Given the description of an element on the screen output the (x, y) to click on. 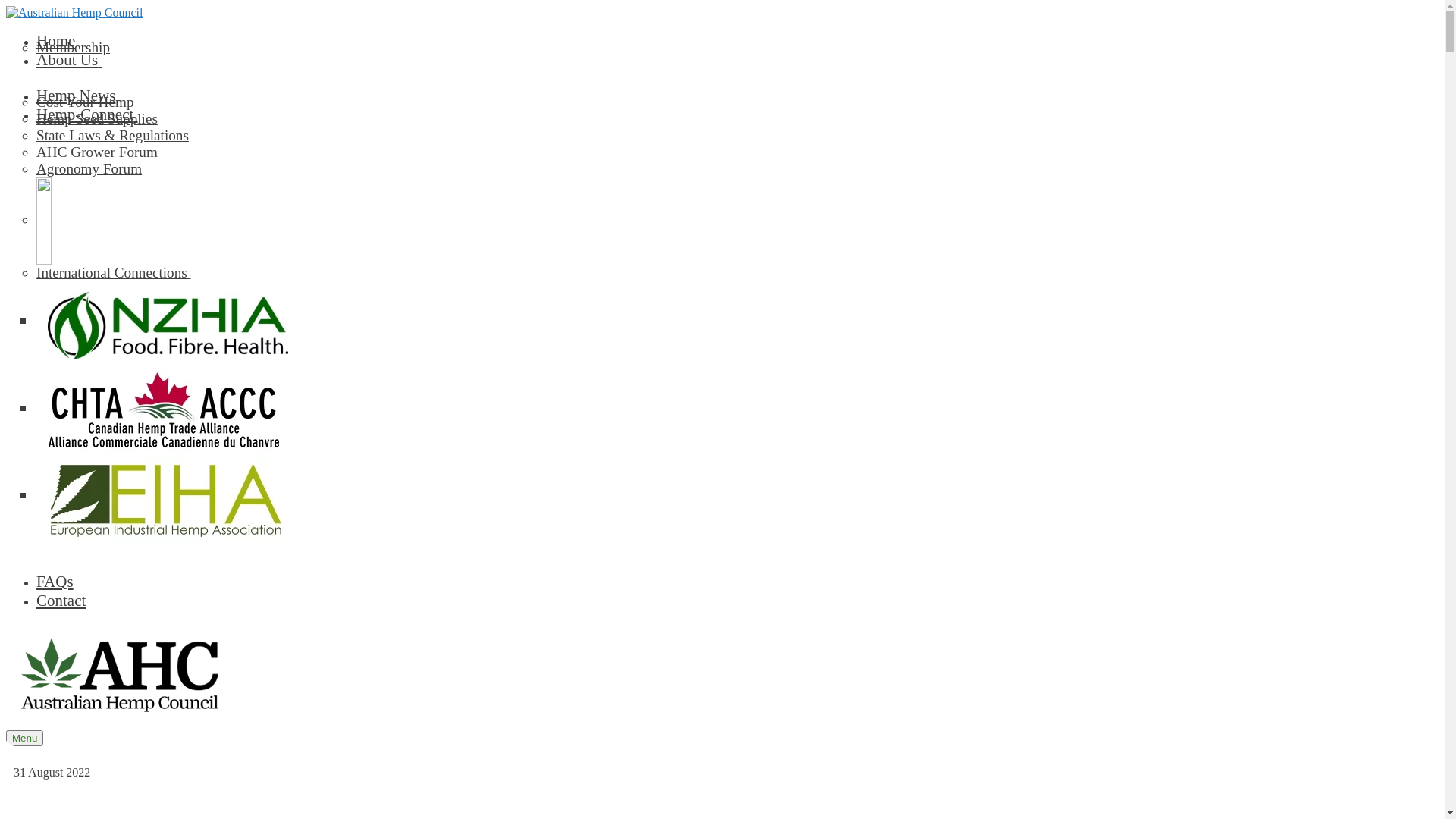
State Laws & Regulations Element type: text (737, 135)
AHC Grower Forum Element type: text (737, 152)
Hemp News Element type: text (75, 95)
Hemp Seed Supplies Element type: text (737, 118)
About Us  Element type: text (68, 59)
Cost Your Hemp Element type: text (737, 102)
FAQs Element type: text (54, 581)
Home Element type: text (55, 40)
Agronomy Forum Element type: text (737, 168)
Contact Element type: text (60, 600)
Menu Element type: text (24, 738)
International Connections  Element type: text (737, 272)
Hemp-Connect  Element type: text (87, 114)
Membership Element type: text (737, 47)
